Given the description of an element on the screen output the (x, y) to click on. 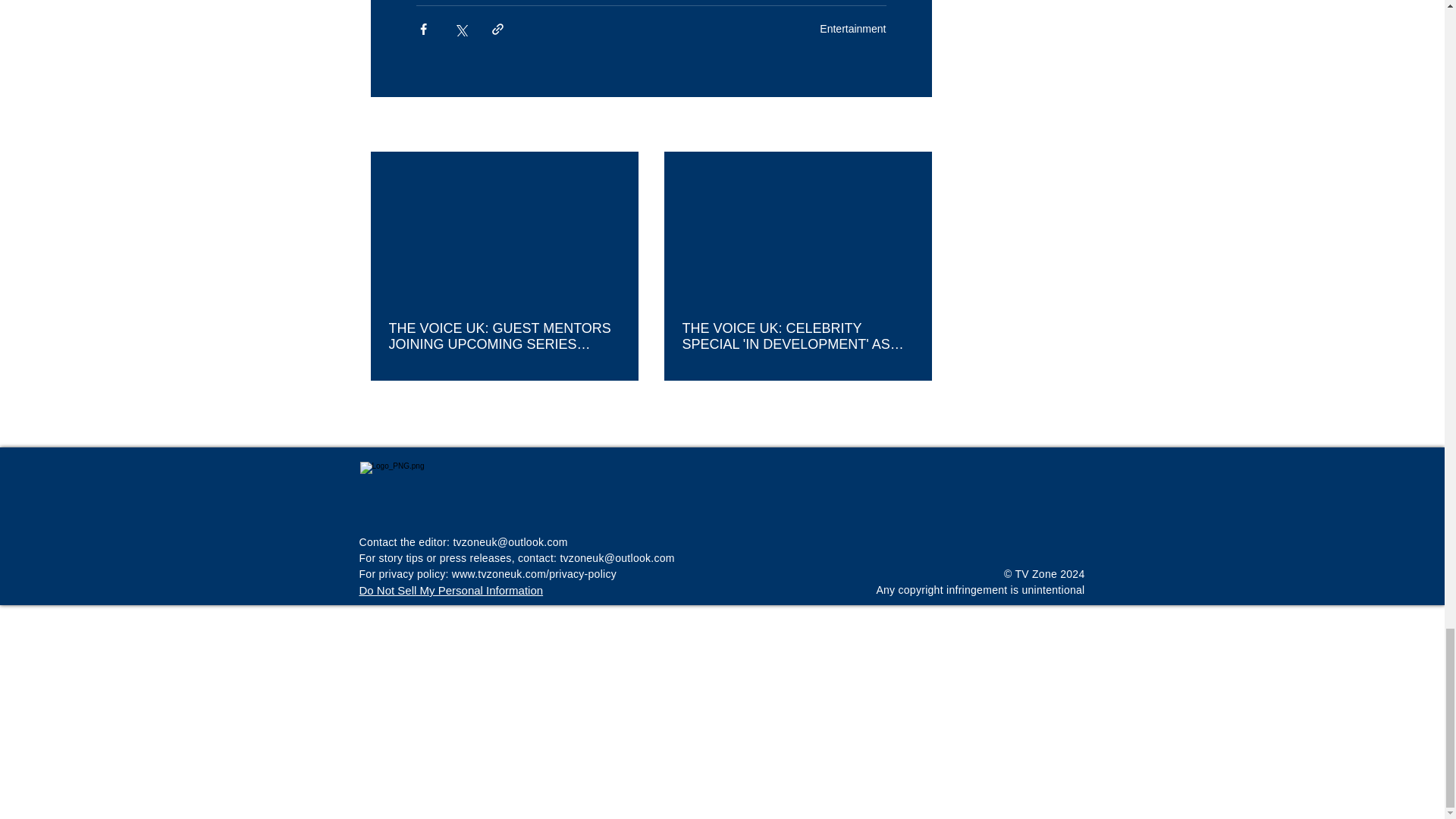
Entertainment (852, 28)
THE VOICE UK: GUEST MENTORS JOINING UPCOMING SERIES REVEALED (504, 336)
See All (914, 125)
